Given the description of an element on the screen output the (x, y) to click on. 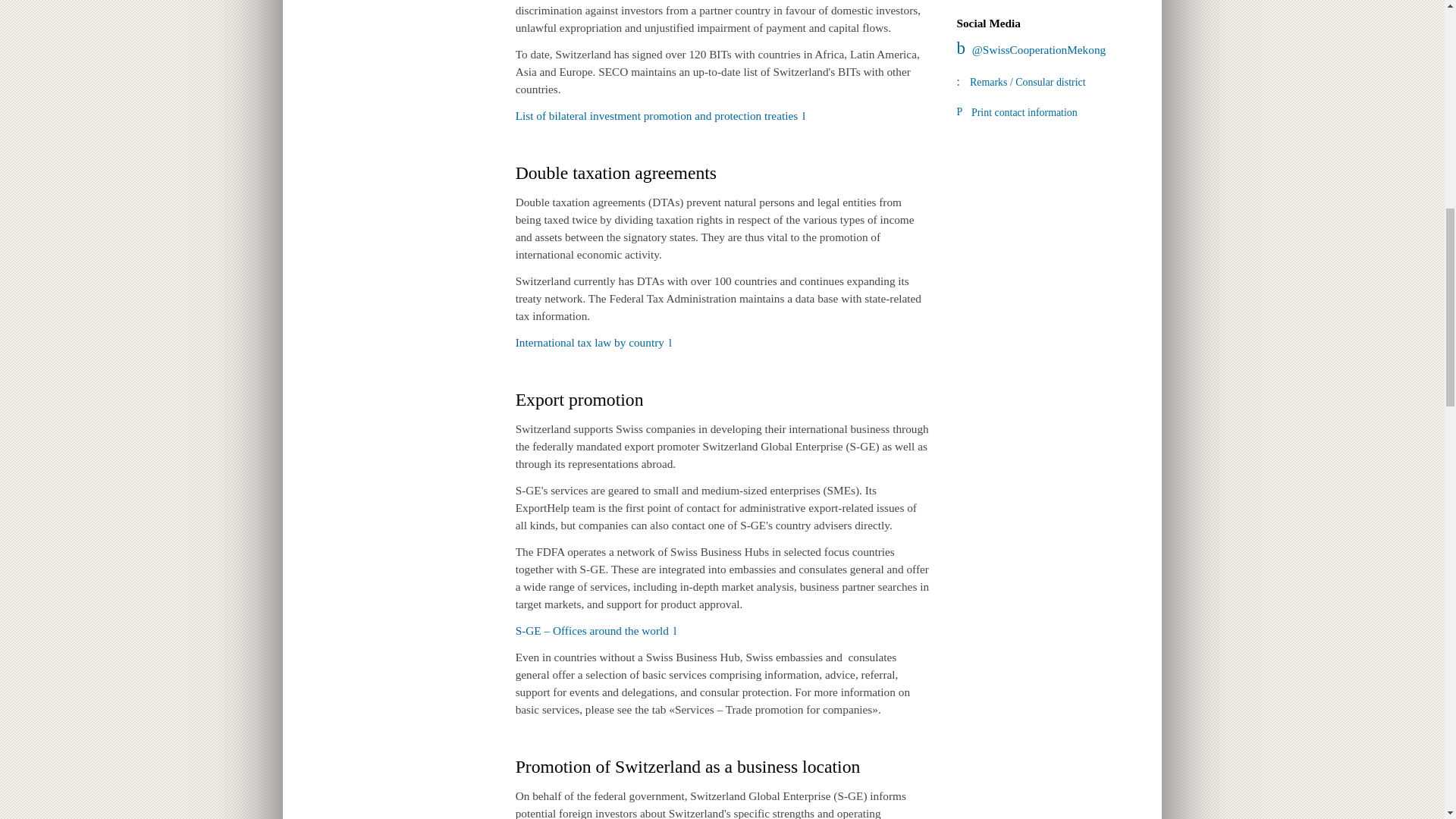
External Link (593, 341)
External Link (660, 115)
External Link (596, 630)
